Given the description of an element on the screen output the (x, y) to click on. 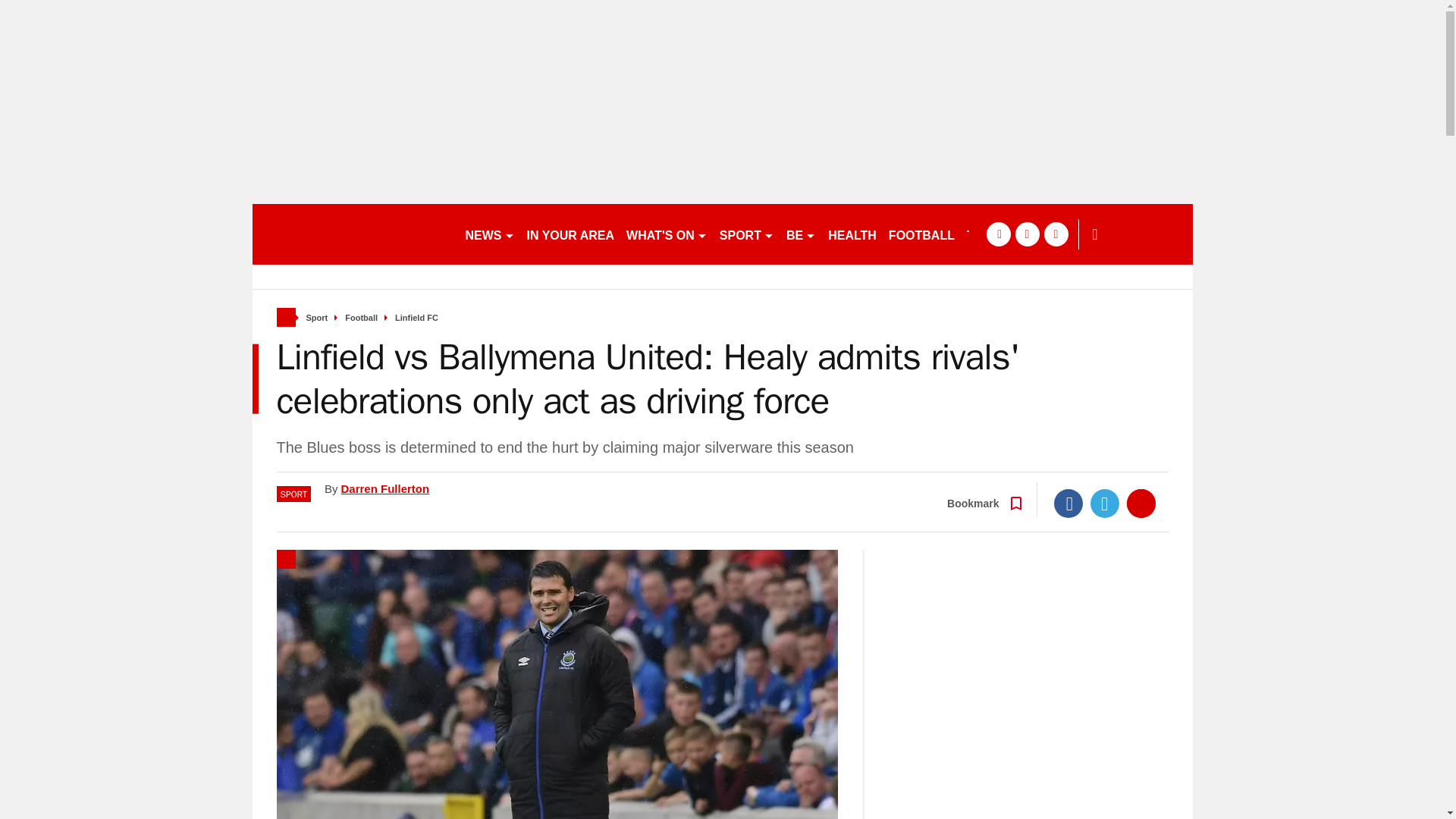
twitter (1026, 233)
NEWS (490, 233)
facebook (997, 233)
WHAT'S ON (666, 233)
belfastlive (351, 233)
SPORT (746, 233)
IN YOUR AREA (569, 233)
Twitter (1104, 502)
instagram (1055, 233)
Facebook (1068, 502)
